Given the description of an element on the screen output the (x, y) to click on. 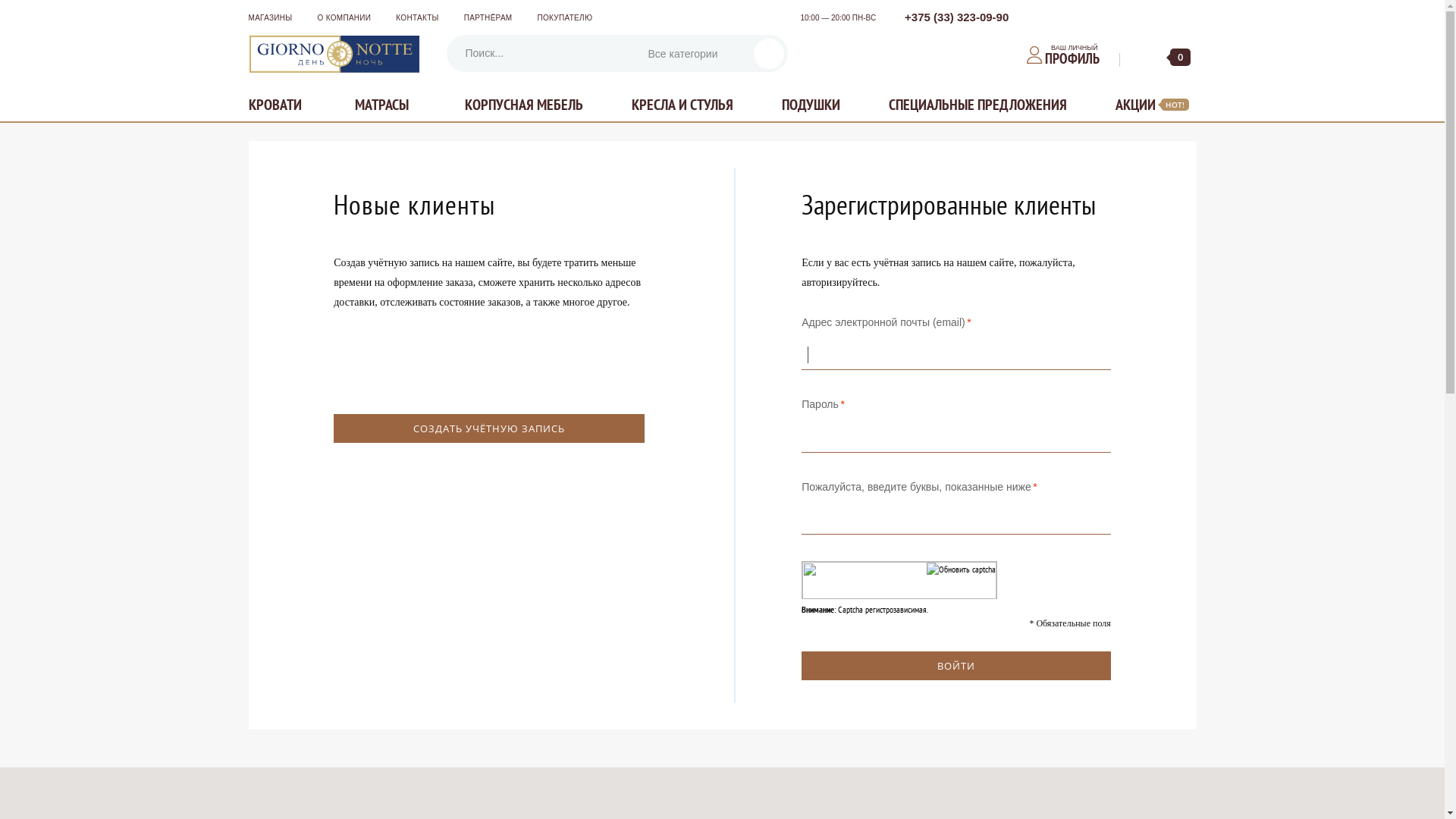
0 Element type: text (1169, 57)
